Given the description of an element on the screen output the (x, y) to click on. 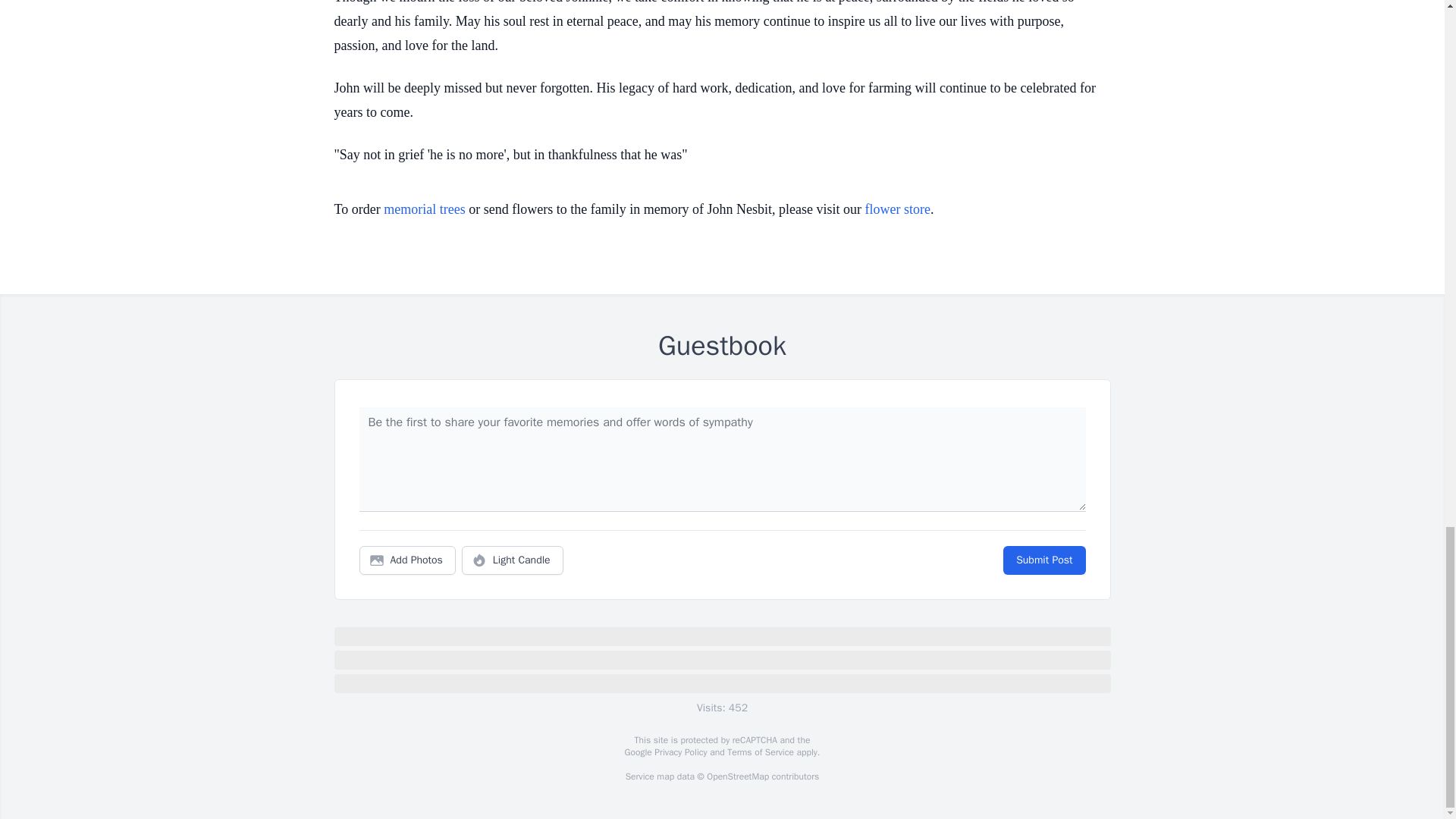
Light Candle (512, 560)
OpenStreetMap (737, 776)
Terms of Service (759, 752)
flower store (897, 209)
Add Photos (407, 560)
Submit Post (1043, 560)
memorial trees (424, 209)
Privacy Policy (679, 752)
